Given the description of an element on the screen output the (x, y) to click on. 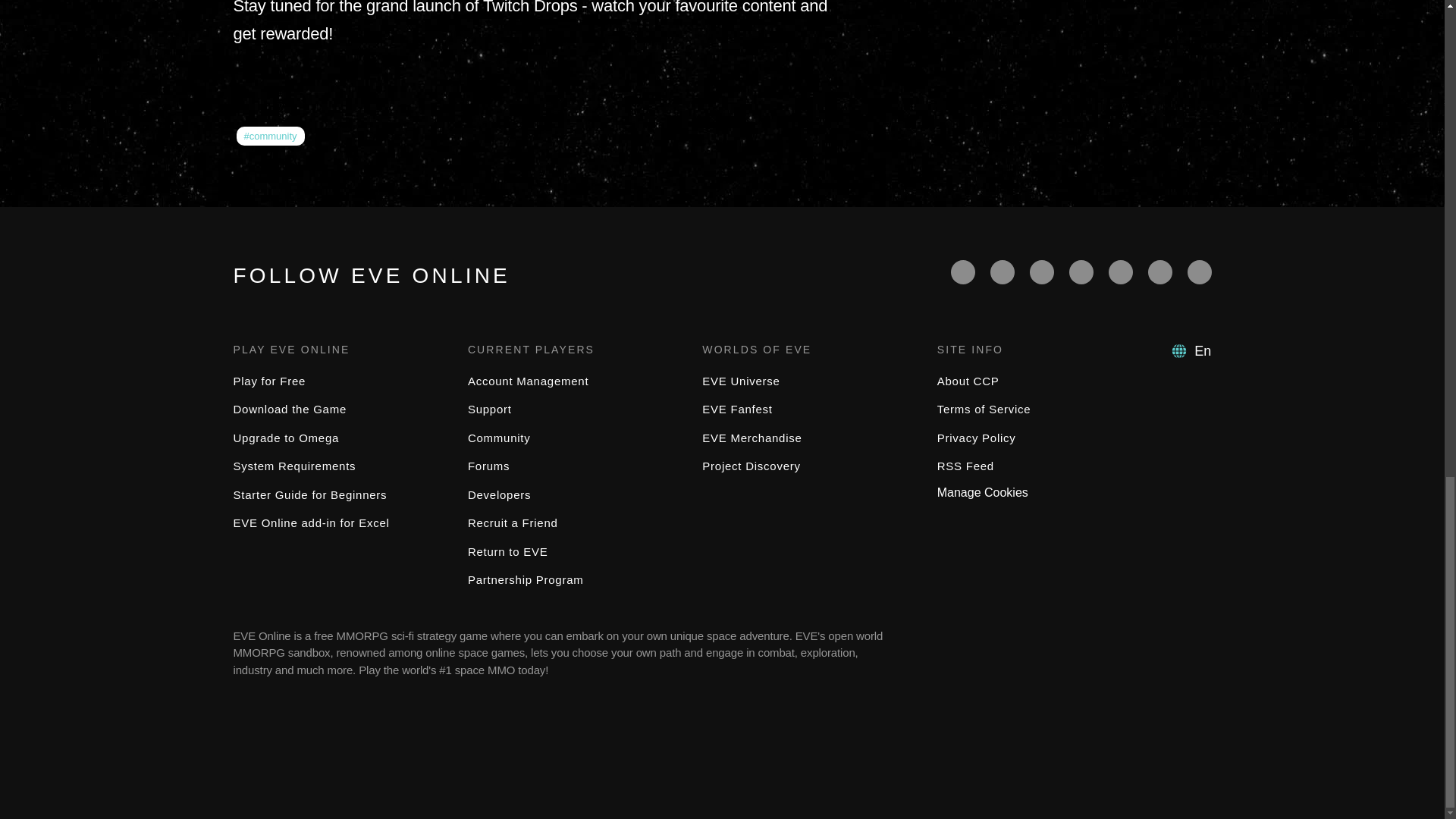
System Requirements (294, 465)
Play for Free (268, 380)
VK (1199, 272)
Download the Game (289, 408)
Twitch (1080, 272)
Upgrade to Omega (285, 437)
Twitter (1002, 272)
Facebook (962, 272)
Starter Guide for Beginners (309, 494)
YouTube (1041, 272)
Instagram (1160, 272)
Discord (1120, 272)
